Given the description of an element on the screen output the (x, y) to click on. 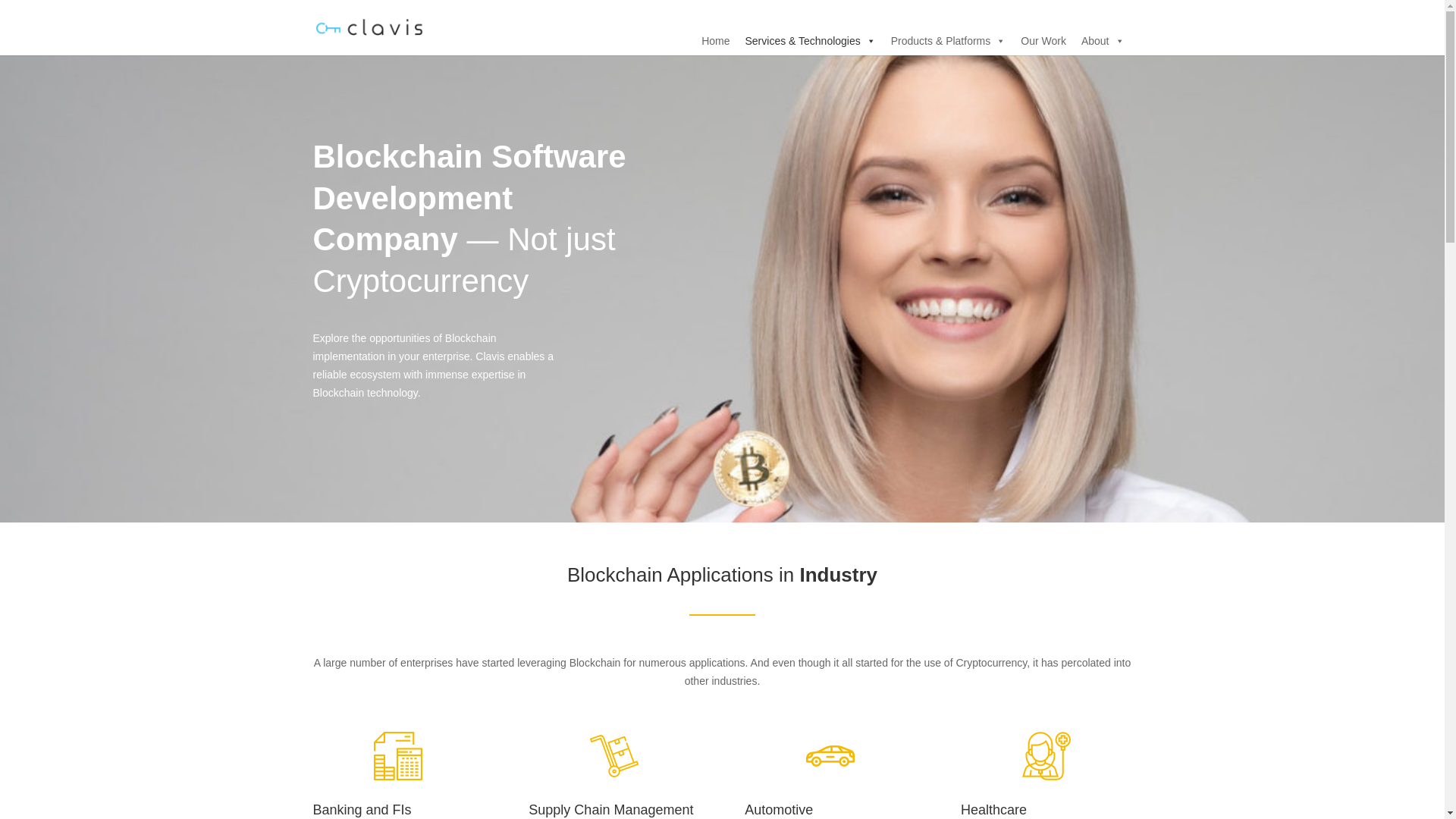
Home (715, 40)
